Given the description of an element on the screen output the (x, y) to click on. 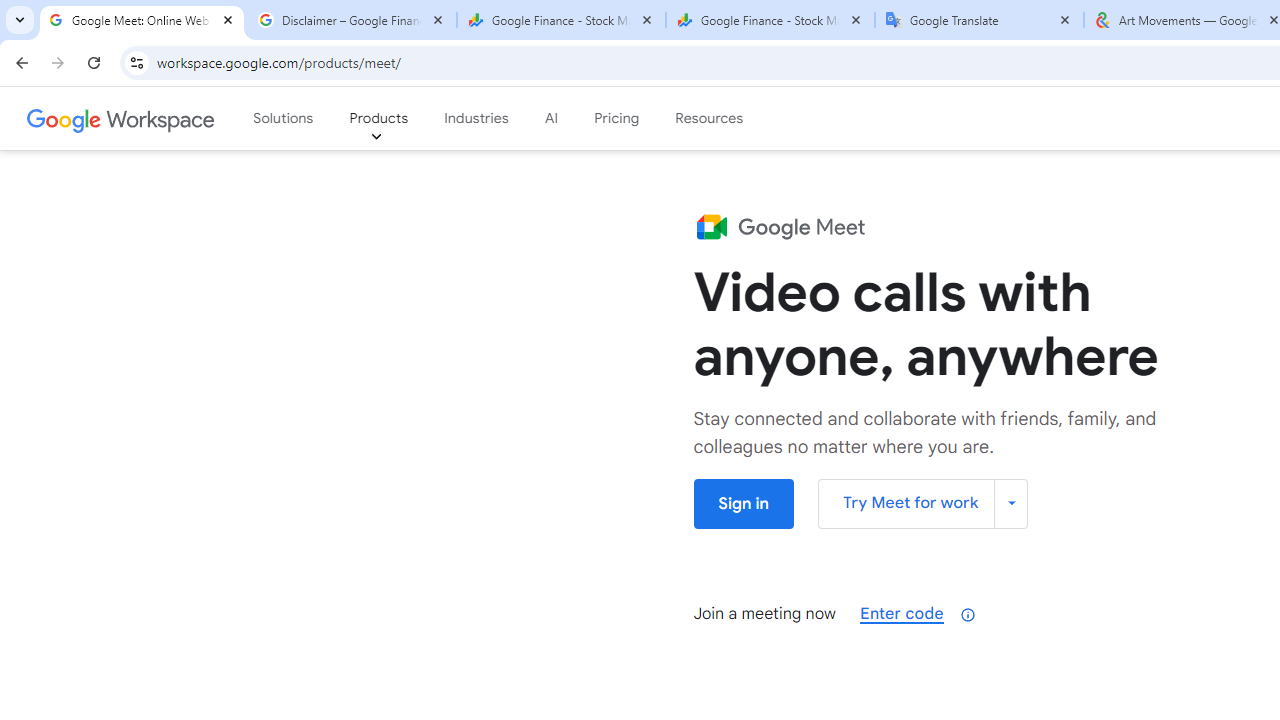
Products (379, 119)
AI (551, 119)
Google Translate (979, 20)
Try Meet for work (923, 502)
Resources (708, 119)
